Given the description of an element on the screen output the (x, y) to click on. 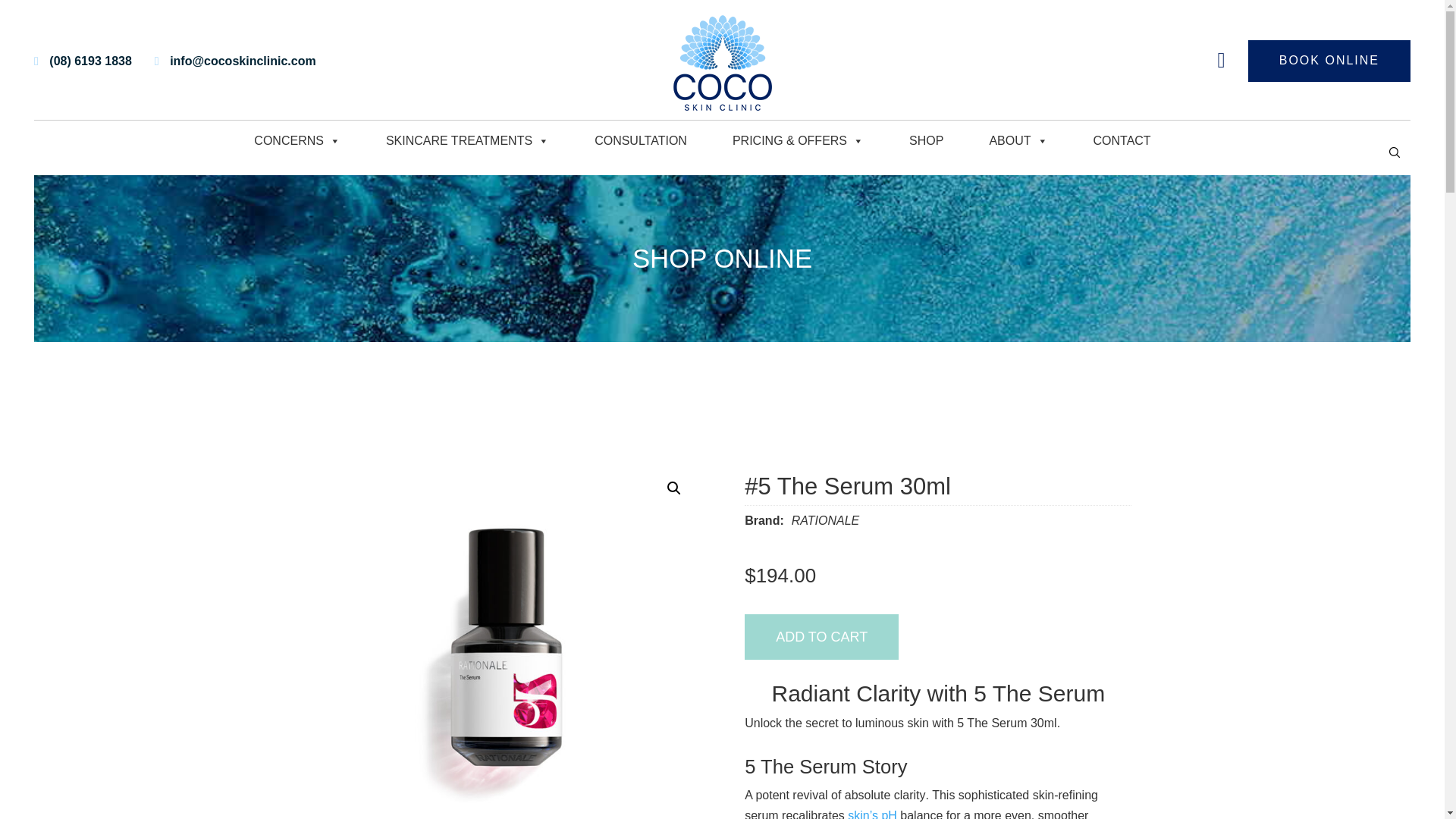
CONCERNS (296, 141)
BOOK ONLINE (1328, 60)
SKINCARE TREATMENTS (466, 141)
